Given the description of an element on the screen output the (x, y) to click on. 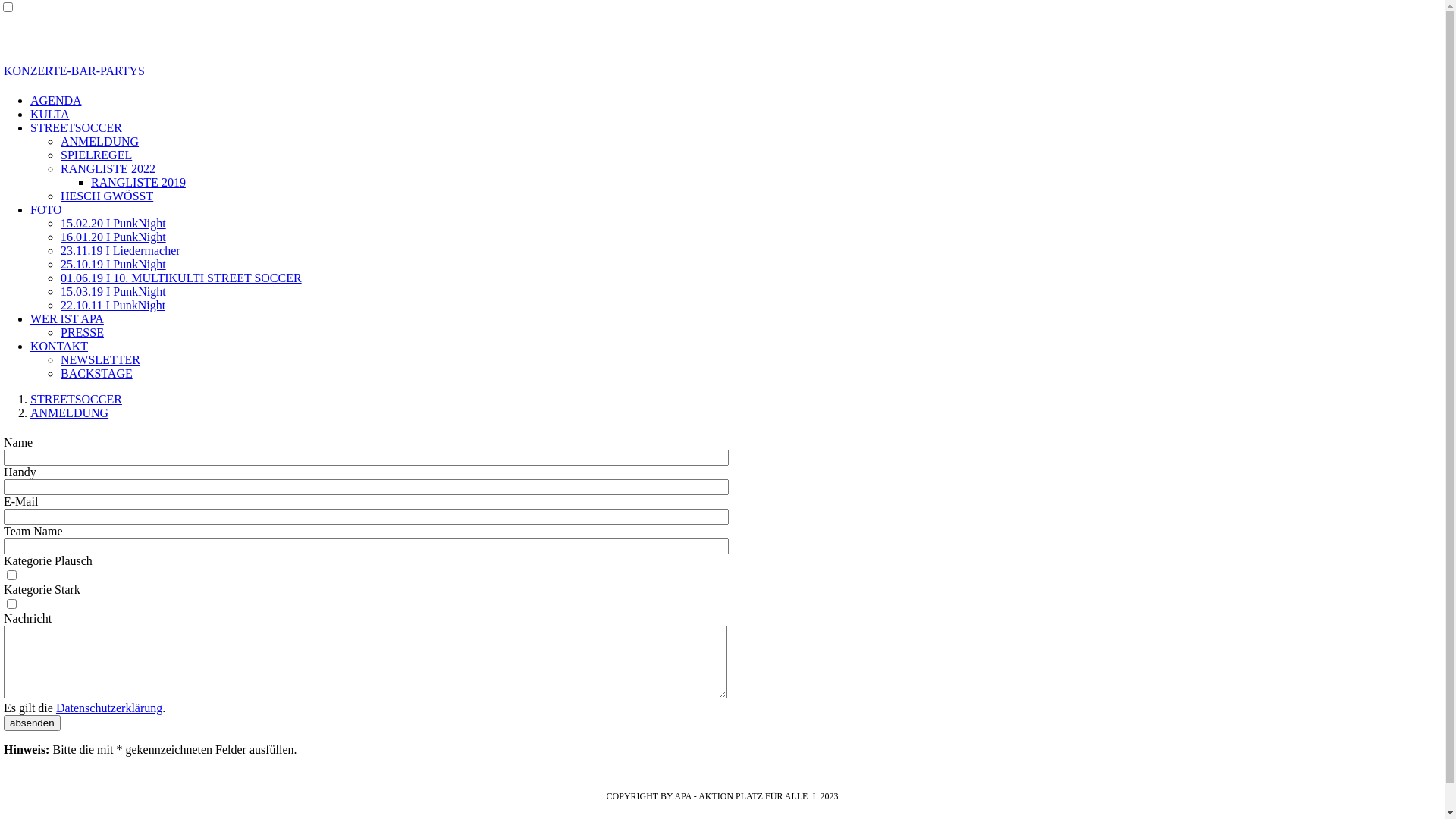
25.10.19 I PunkNight Element type: text (113, 263)
16.01.20 I PunkNight Element type: text (113, 236)
FOTO Element type: text (46, 209)
PRESSE Element type: text (81, 332)
01.06.19 I 10. MULTIKULTI STREET SOCCER Element type: text (180, 277)
KONTAKT Element type: text (58, 345)
STREETSOCCER Element type: text (76, 398)
BACKSTAGE Element type: text (96, 373)
22.10.11 I PunkNight Element type: text (112, 304)
ANMELDUNG Element type: text (69, 412)
23.11.19 I Liedermacher Element type: text (120, 250)
15.02.20 I PunkNight Element type: text (113, 222)
SPIELREGEL Element type: text (95, 154)
KULTA Element type: text (49, 113)
ANMELDUNG Element type: text (99, 140)
AGENDA Element type: text (55, 100)
KONZERTE-BAR-PARTYS Element type: text (73, 70)
STREETSOCCER Element type: text (76, 127)
RANGLISTE 2019 Element type: text (138, 181)
absenden Element type: text (31, 723)
15.03.19 I PunkNight Element type: text (113, 291)
RANGLISTE 2022 Element type: text (107, 168)
NEWSLETTER Element type: text (100, 359)
WER IST APA Element type: text (66, 318)
